Given the description of an element on the screen output the (x, y) to click on. 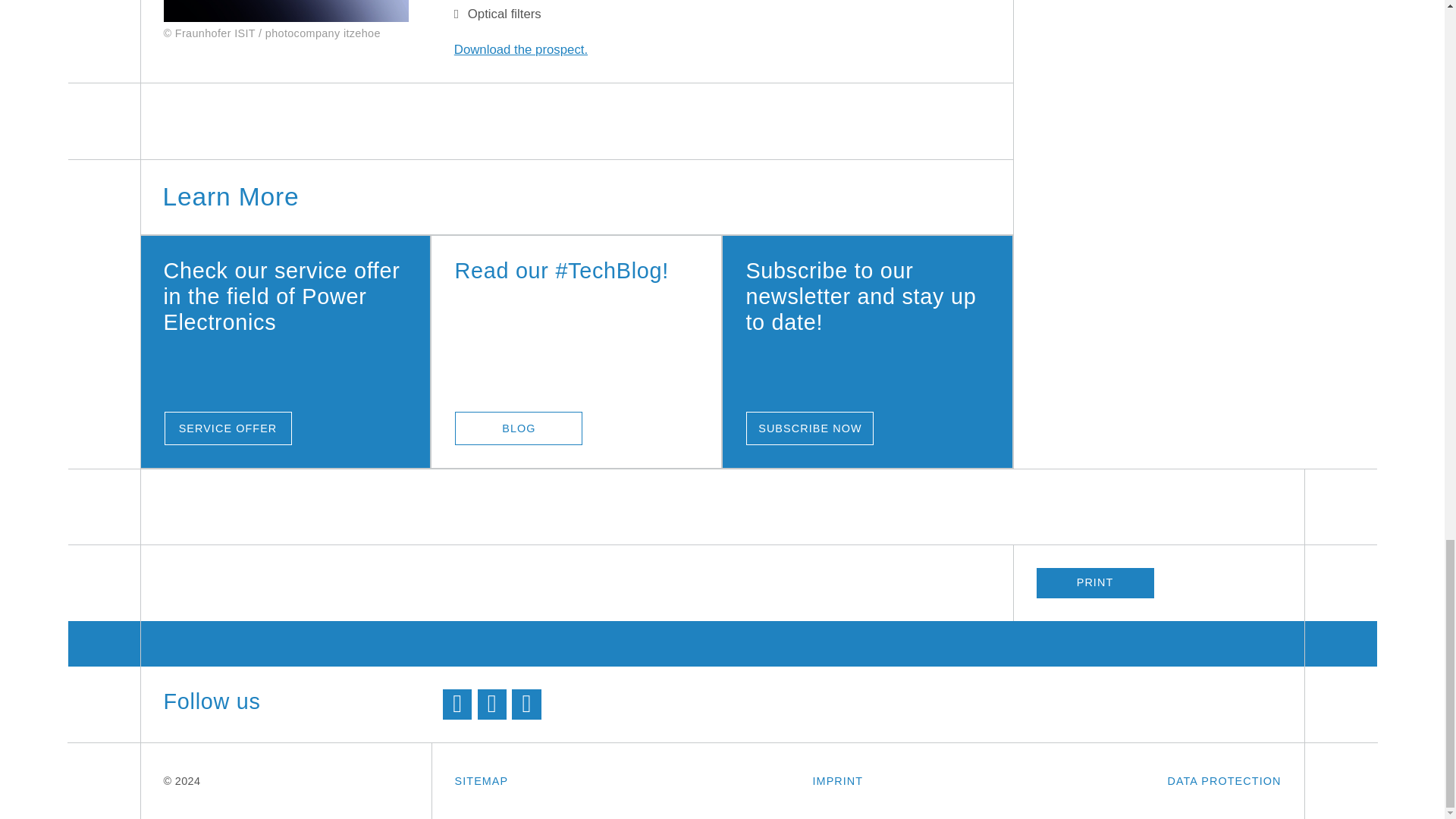
subscribe now (809, 428)
Visit us on Instagram (526, 704)
blog (518, 428)
service offer (227, 428)
